Given the description of an element on the screen output the (x, y) to click on. 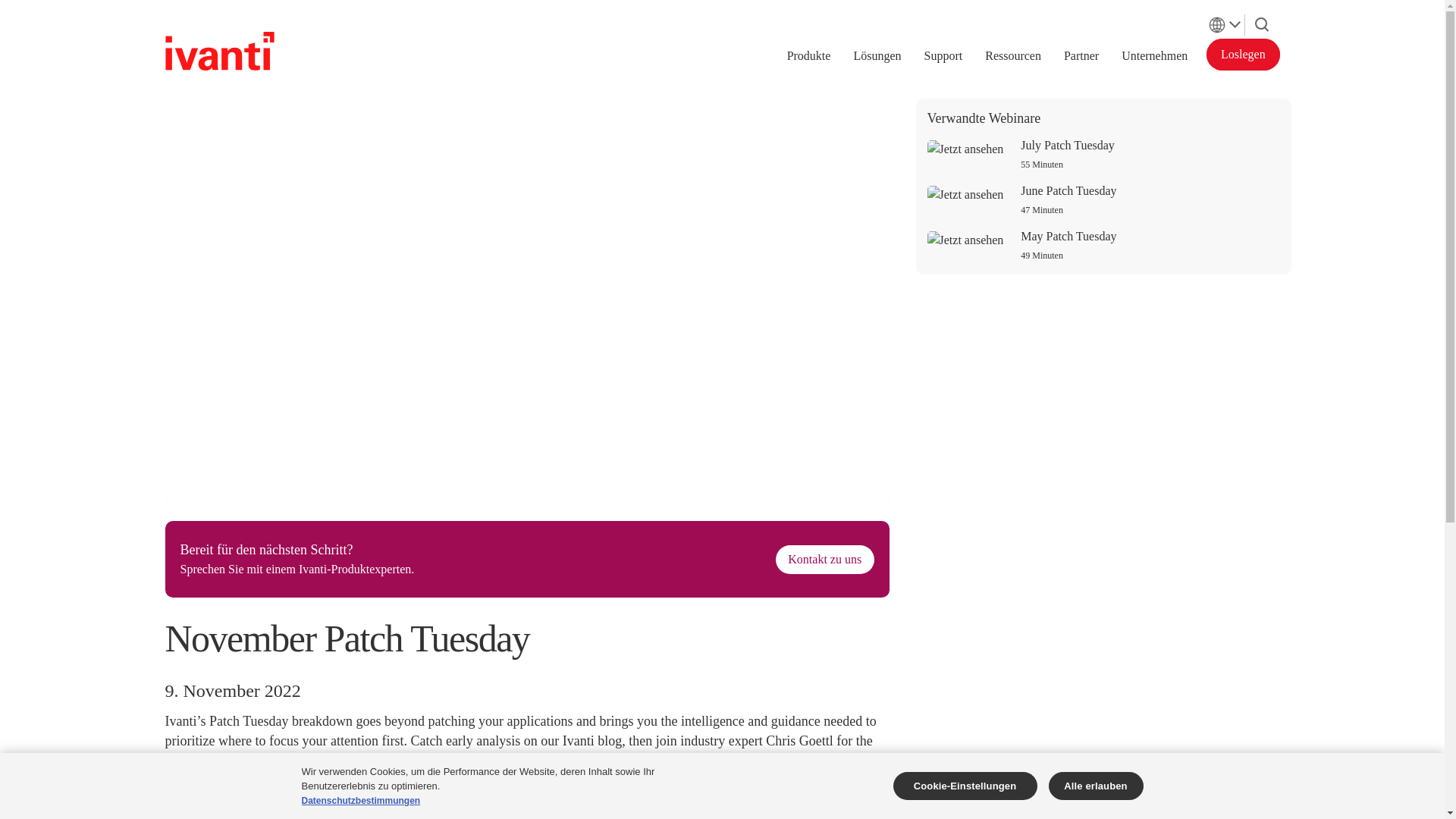
Suche (1262, 24)
Suche (1261, 22)
